Given the description of an element on the screen output the (x, y) to click on. 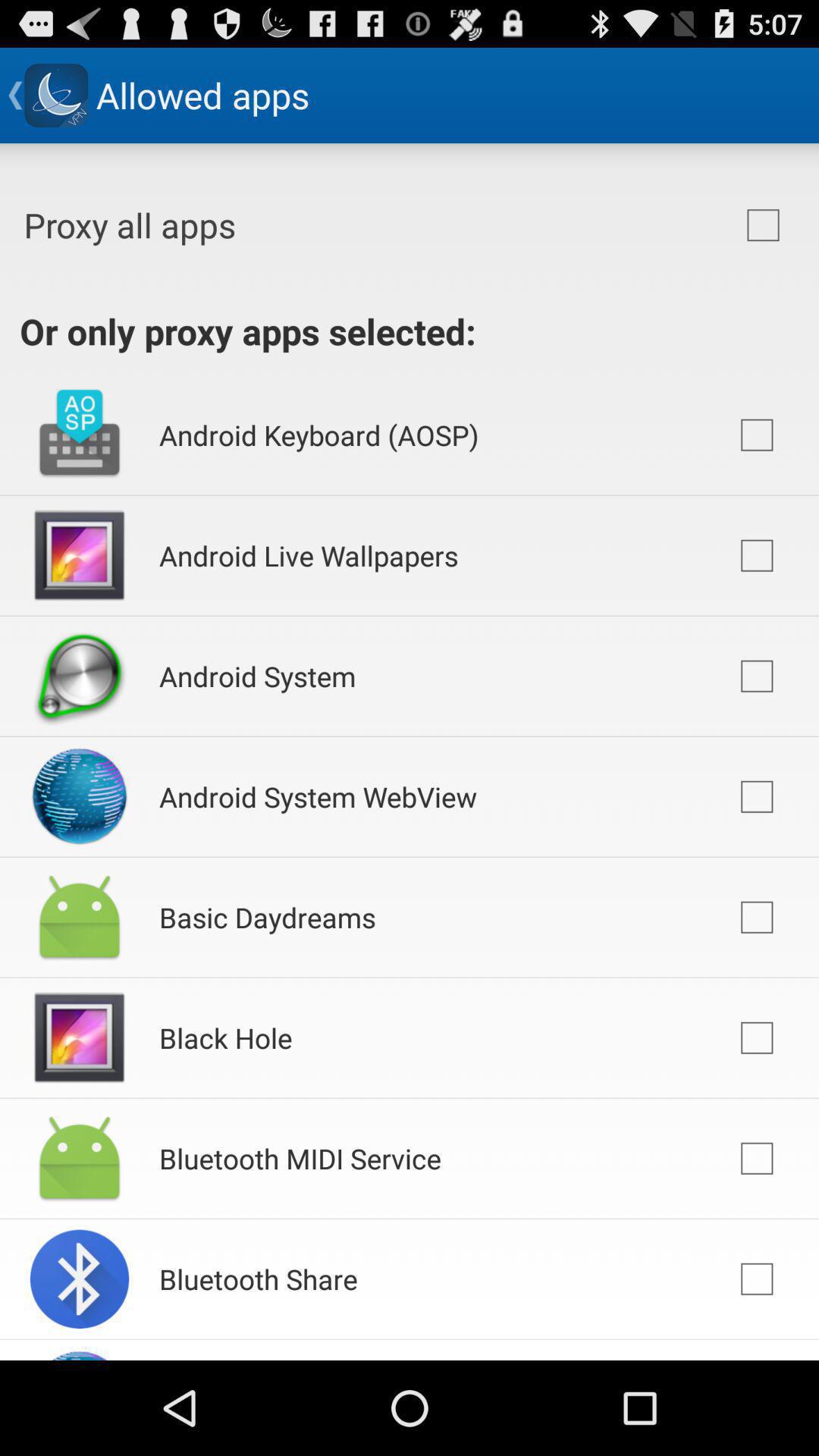
select the basic daydreams icon (267, 917)
